Given the description of an element on the screen output the (x, y) to click on. 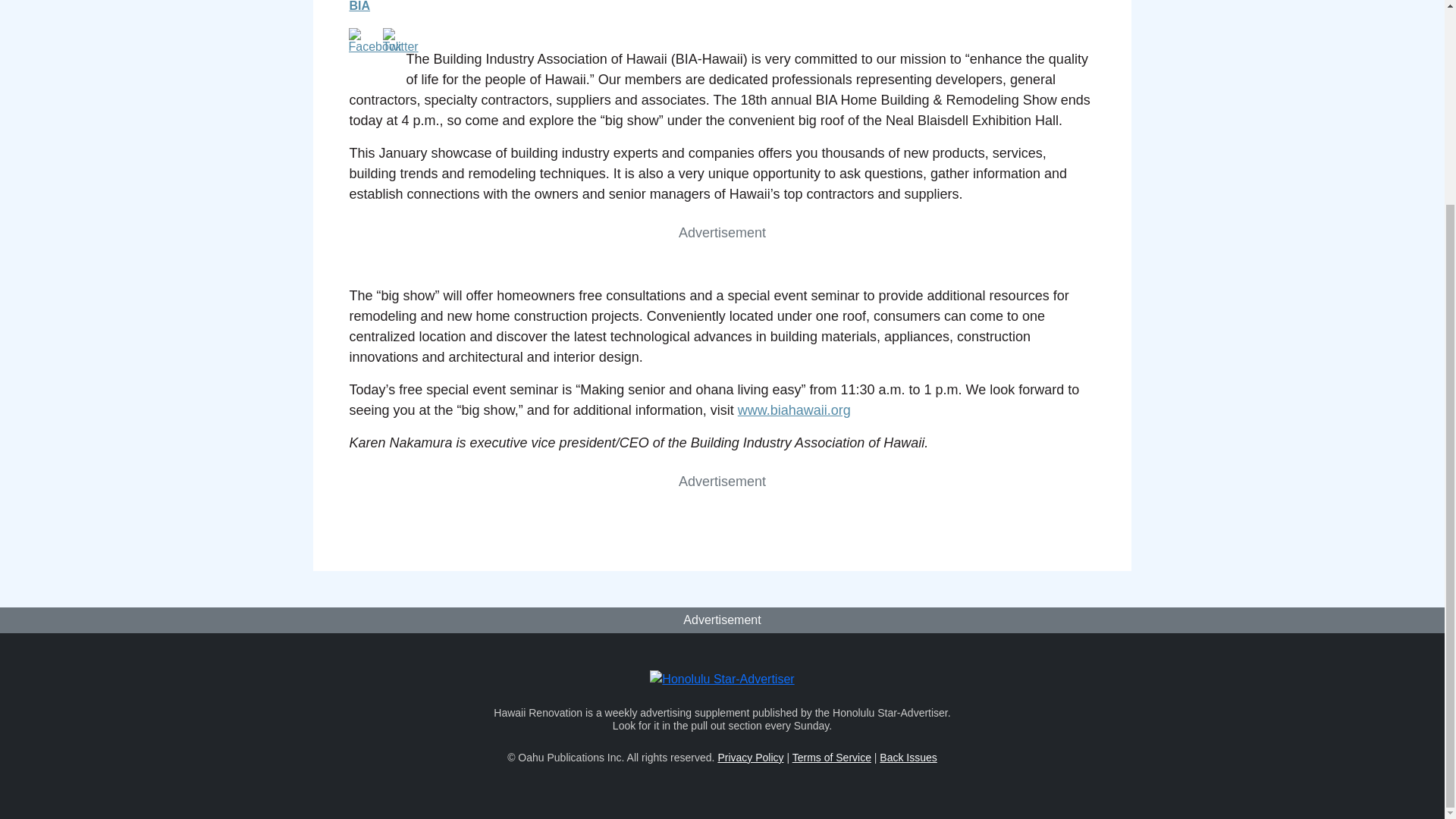
Back Issues (907, 757)
BIA (359, 6)
www.biahawaii.org (794, 409)
Terms of Service (831, 757)
Twitter (399, 40)
Facebook (375, 40)
Privacy Policy (750, 757)
